Given the description of an element on the screen output the (x, y) to click on. 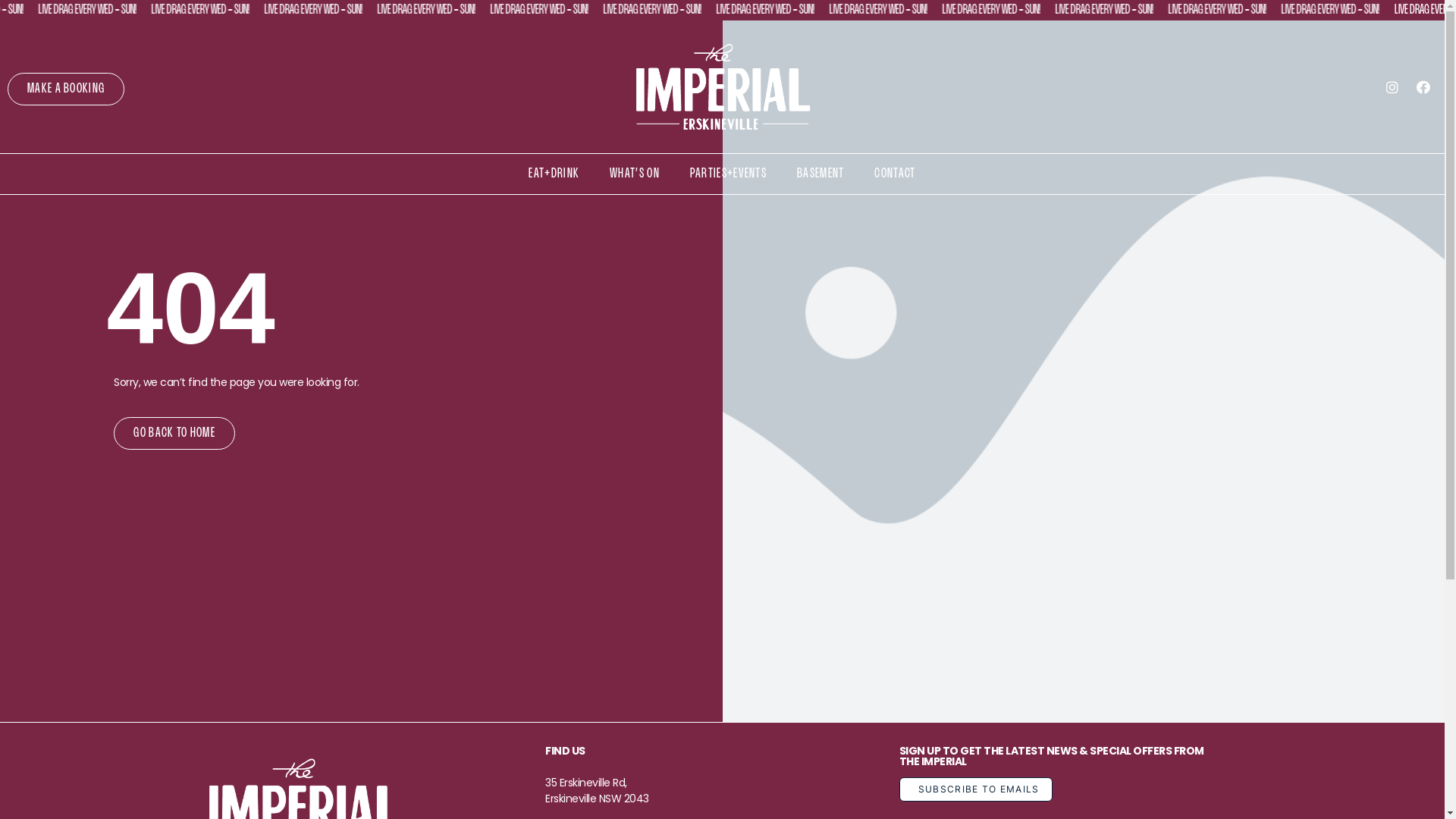
PARTIES+EVENTS Element type: text (727, 173)
SUBSCRIBE TO EMAILS Element type: text (975, 789)
GO BACK TO HOME Element type: text (174, 433)
CONTACT Element type: text (894, 173)
EAT+DRINK Element type: text (553, 173)
BASEMENT Element type: text (820, 173)
MAKE A BOOKING Element type: text (65, 88)
